Given the description of an element on the screen output the (x, y) to click on. 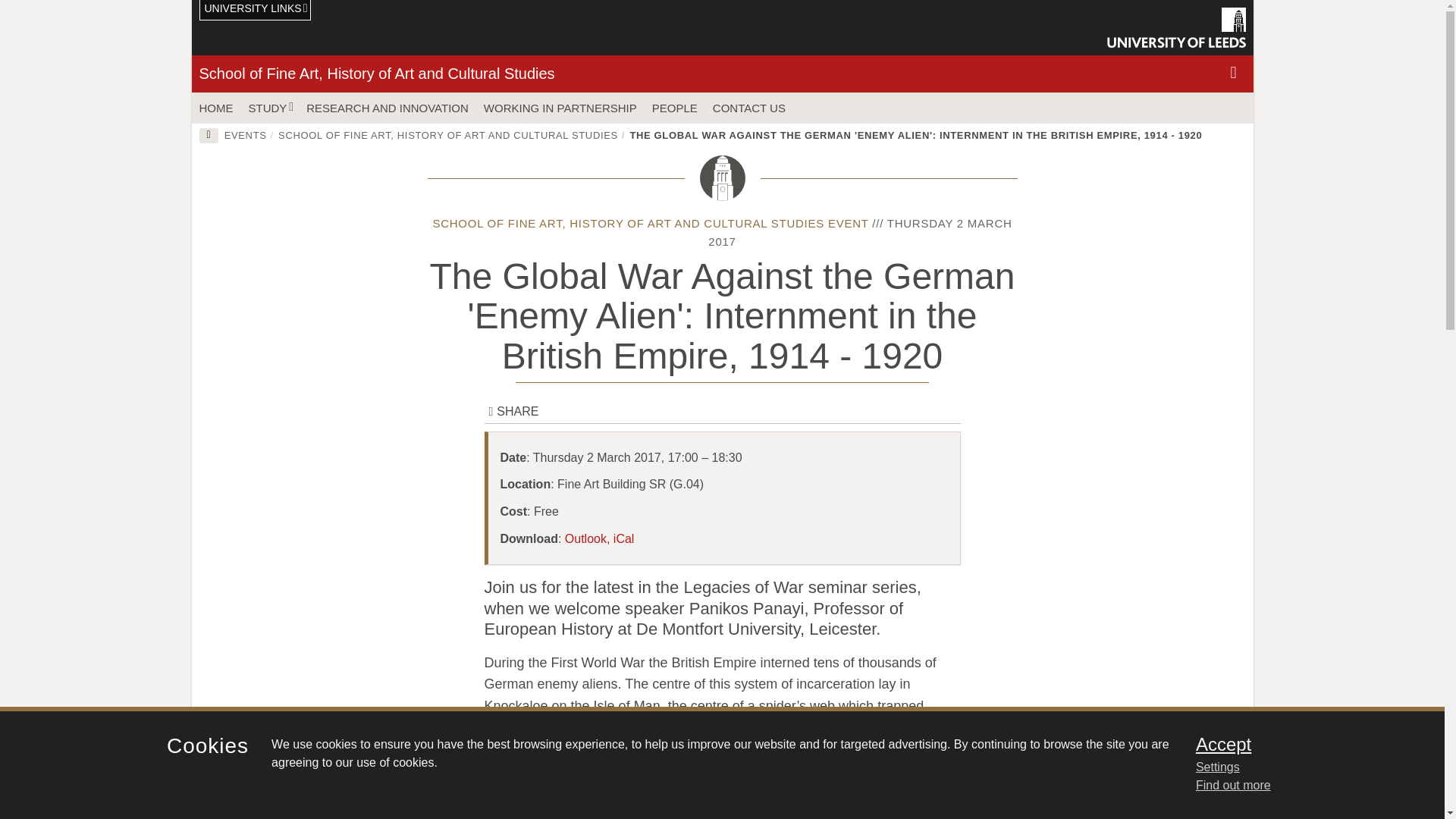
Settings (1300, 767)
Accept (1300, 744)
Find out more (1233, 784)
UNIVERSITY LINKS (254, 10)
University of Leeds homepage (1176, 27)
